Given the description of an element on the screen output the (x, y) to click on. 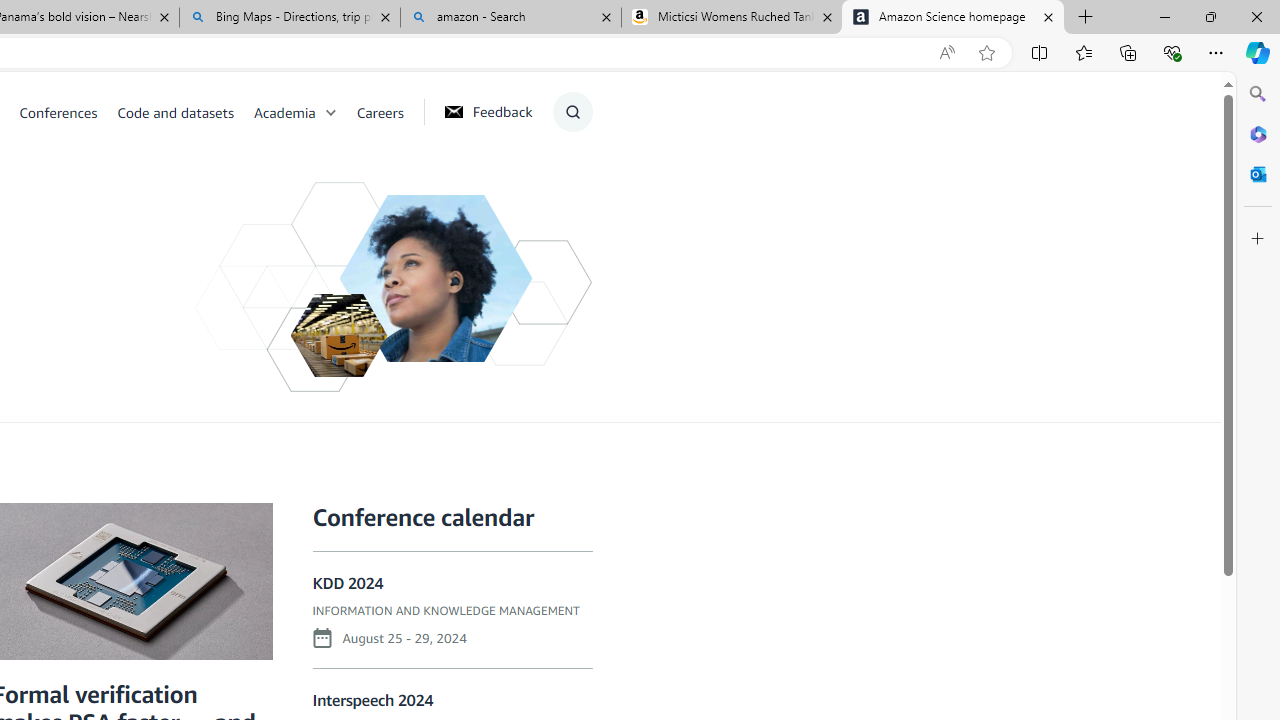
Open Sub Navigation (330, 111)
Code and datasets (184, 111)
Careers (379, 111)
INFORMATION AND KNOWLEDGE MANAGEMENT (445, 611)
Conferences (68, 111)
Interspeech 2024 (372, 700)
Academia (305, 111)
KDD 2024 (348, 583)
Amazon Science Fulfillment Center OAK4 in Tracy, CA (338, 335)
Class: icon-magnify (571, 111)
